Given the description of an element on the screen output the (x, y) to click on. 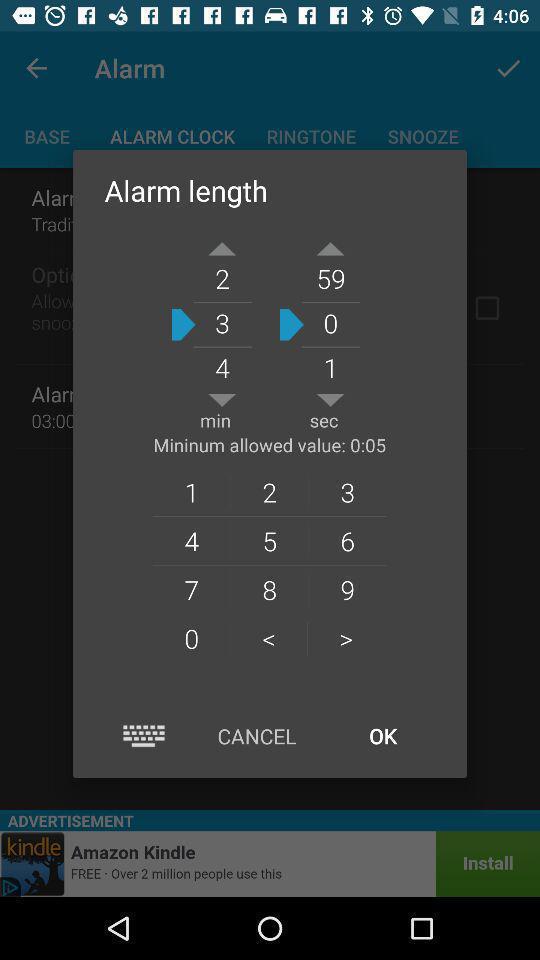
tap 3 (347, 492)
